Given the description of an element on the screen output the (x, y) to click on. 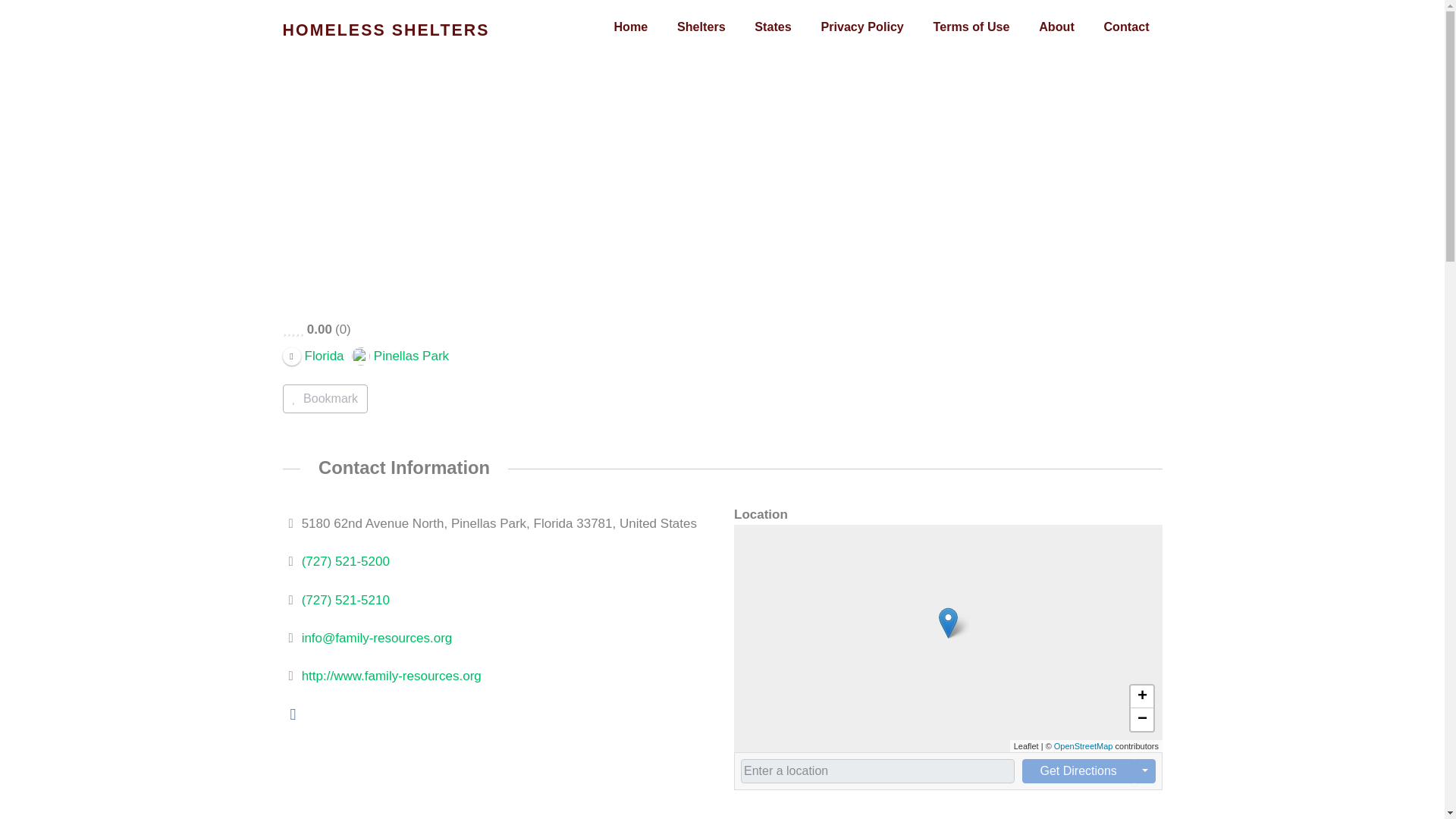
Zoom out (1141, 719)
Zoom in (1141, 696)
Bookmark (325, 398)
Privacy Policy (861, 27)
States (772, 27)
HOMELESS SHELTERS (385, 30)
OpenStreetMap (1082, 746)
Shelters (701, 27)
Pinellas Park (400, 355)
Florida (312, 355)
Florida (312, 355)
Home (629, 27)
Terms of Use (971, 27)
Pinellas Park (400, 355)
About (1056, 27)
